Given the description of an element on the screen output the (x, y) to click on. 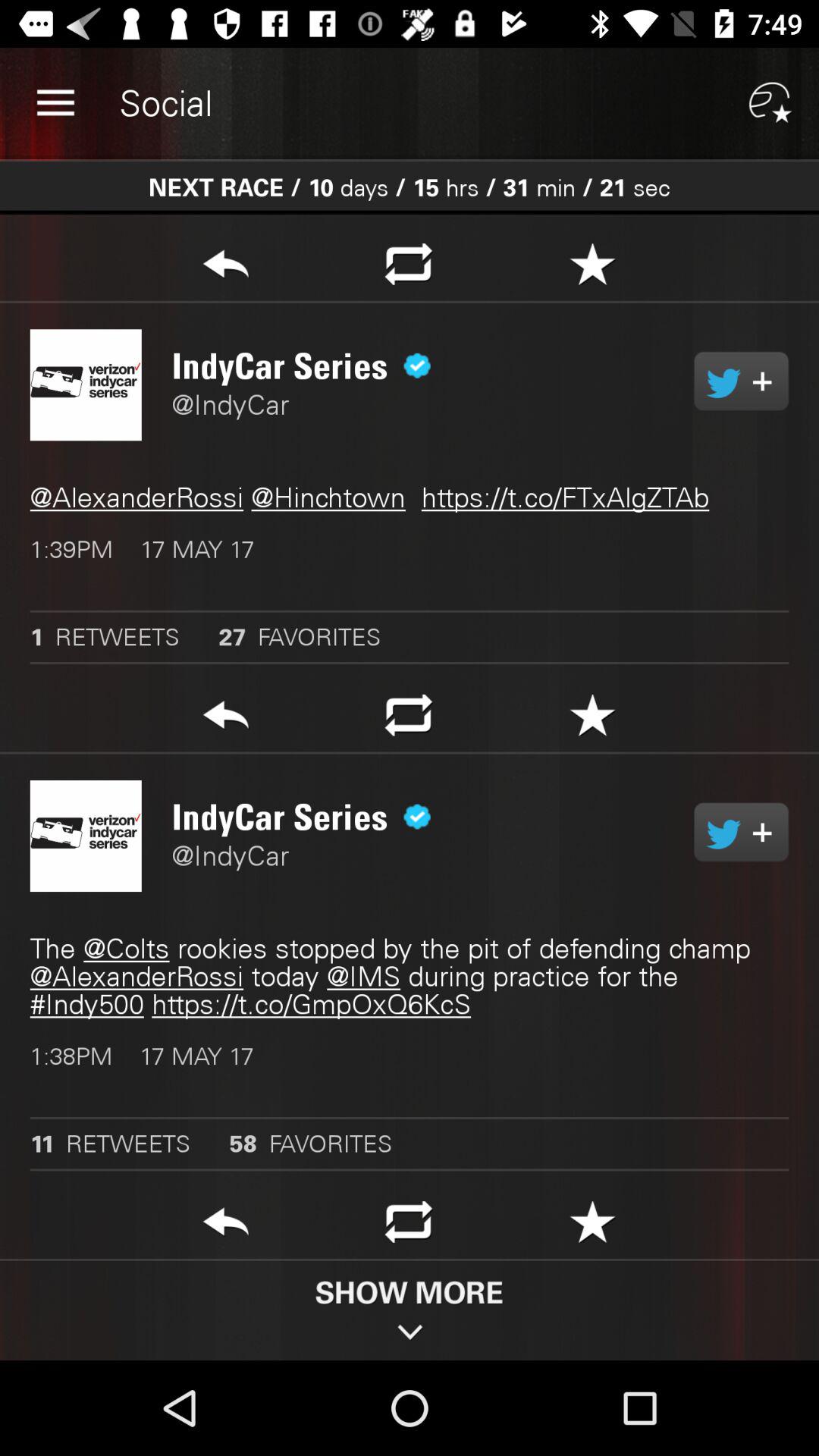
go back (225, 719)
